Given the description of an element on the screen output the (x, y) to click on. 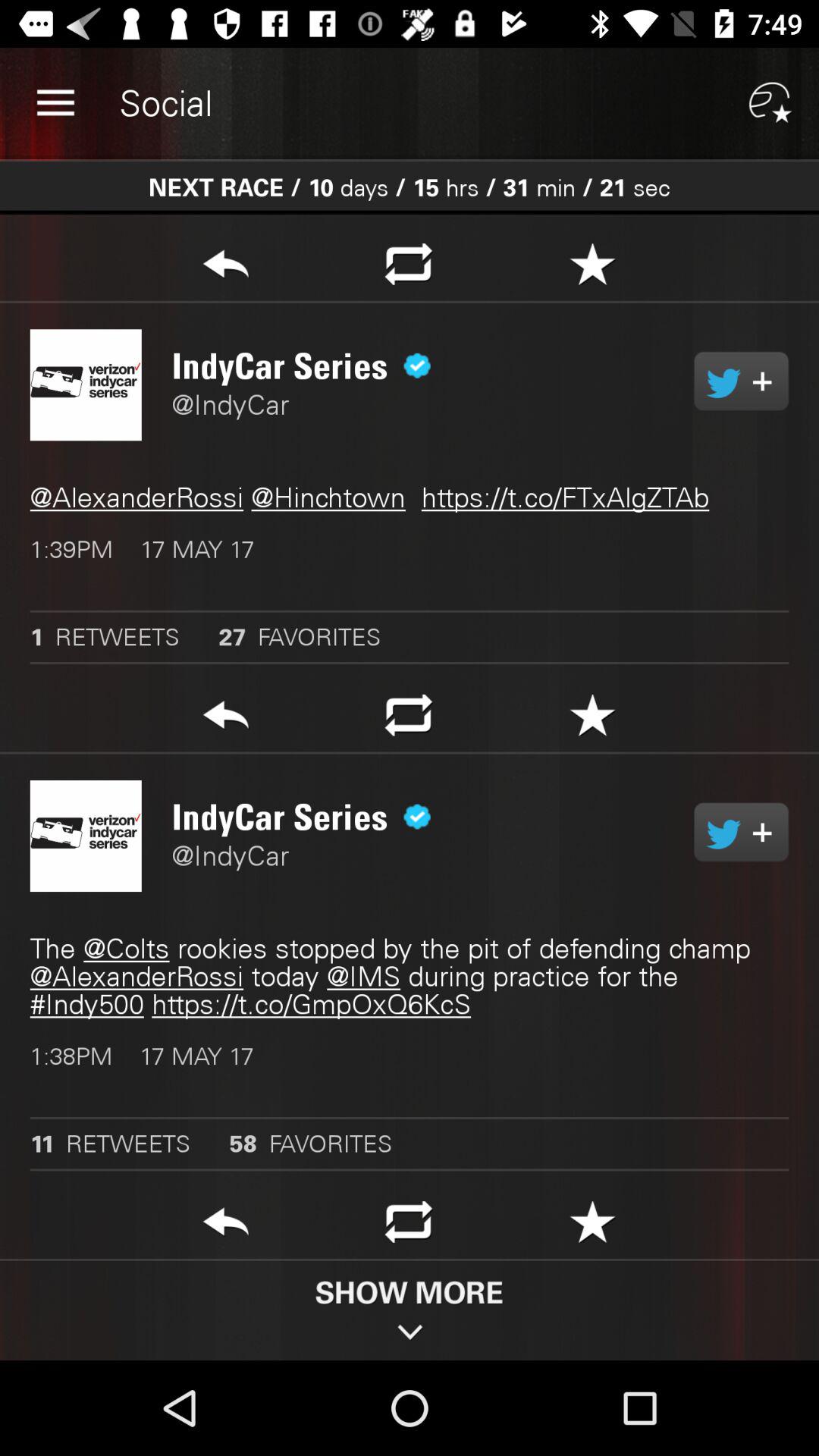
go back (225, 719)
